Given the description of an element on the screen output the (x, y) to click on. 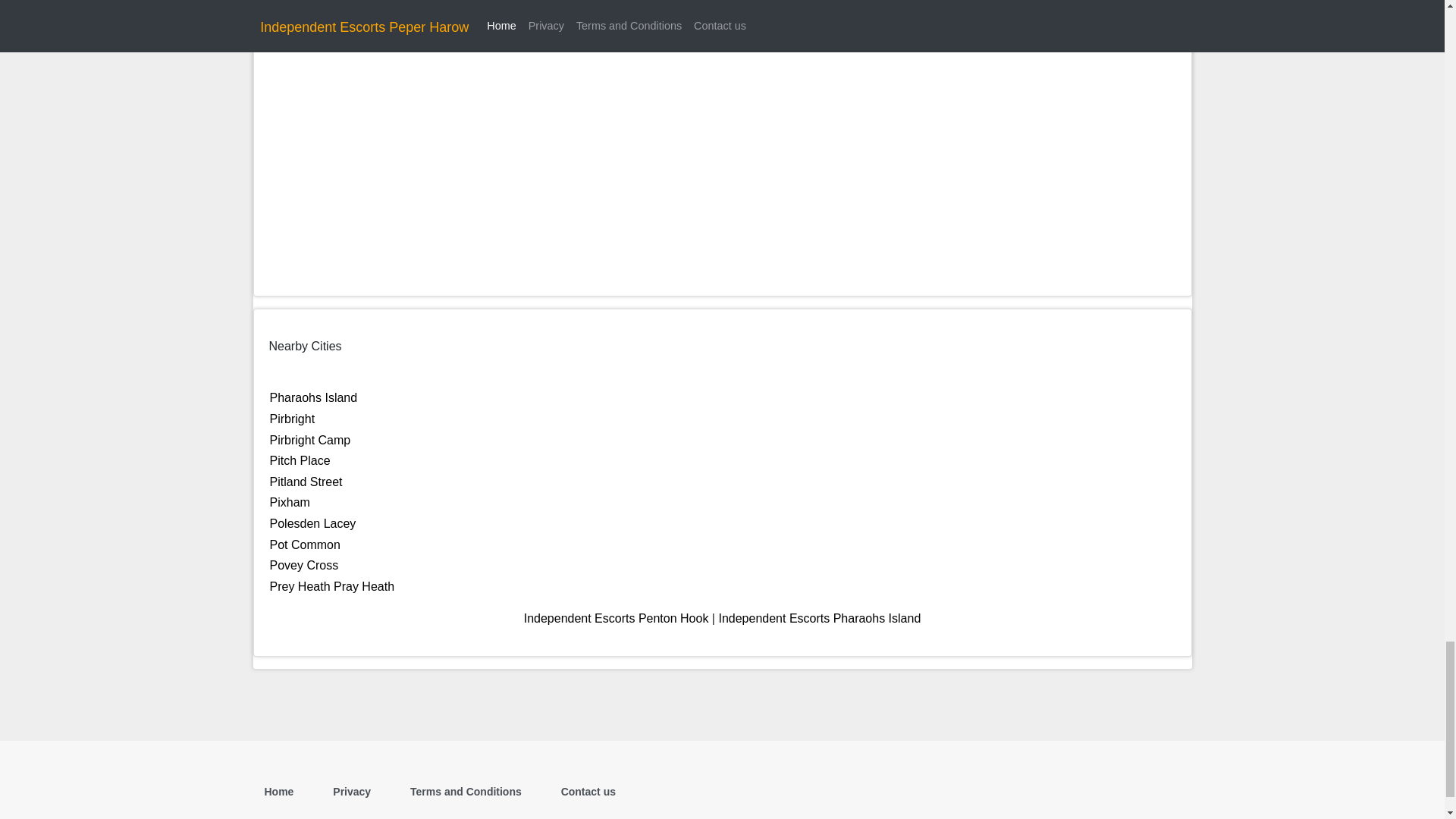
Pitland Street (305, 481)
Pharaohs Island (313, 397)
Polesden Lacey (312, 522)
Pitch Place (299, 460)
Pirbright Camp (309, 440)
Pirbright (292, 418)
Povey Cross (304, 564)
Independent Escorts Penton Hook (616, 617)
Prey Heath Pray Heath (331, 585)
Pot Common (304, 544)
